Given the description of an element on the screen output the (x, y) to click on. 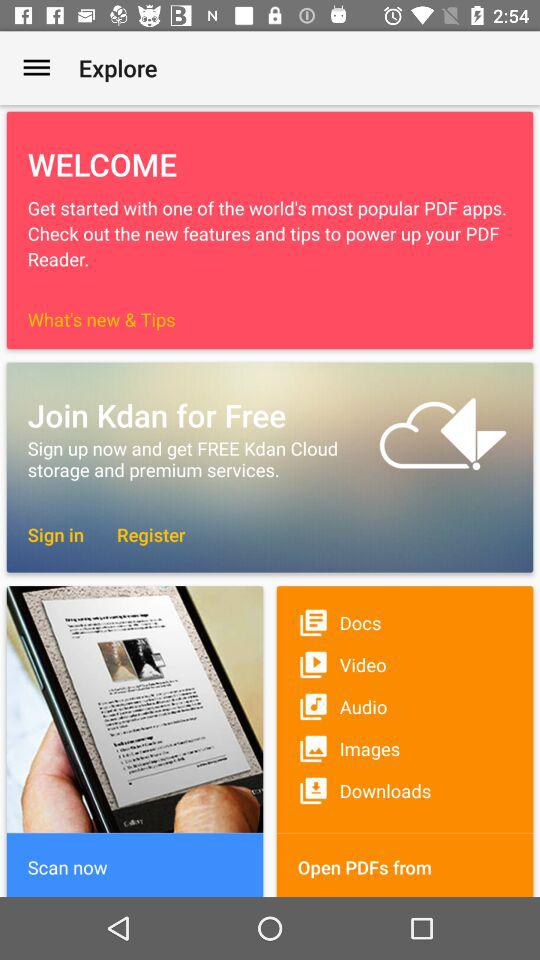
turn off icon below the audio icon (404, 748)
